Given the description of an element on the screen output the (x, y) to click on. 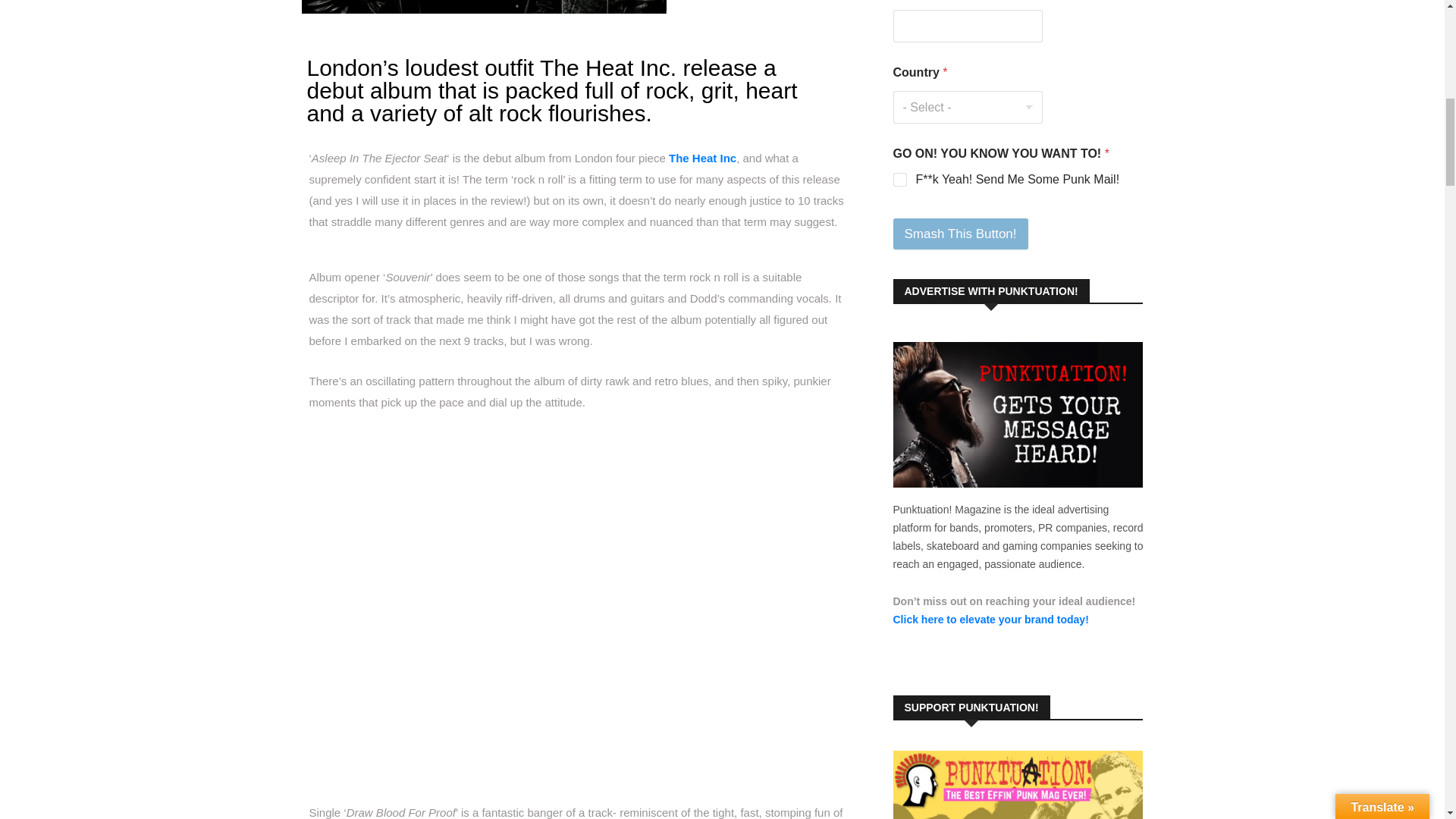
The Heat Inc (702, 157)
